Given the description of an element on the screen output the (x, y) to click on. 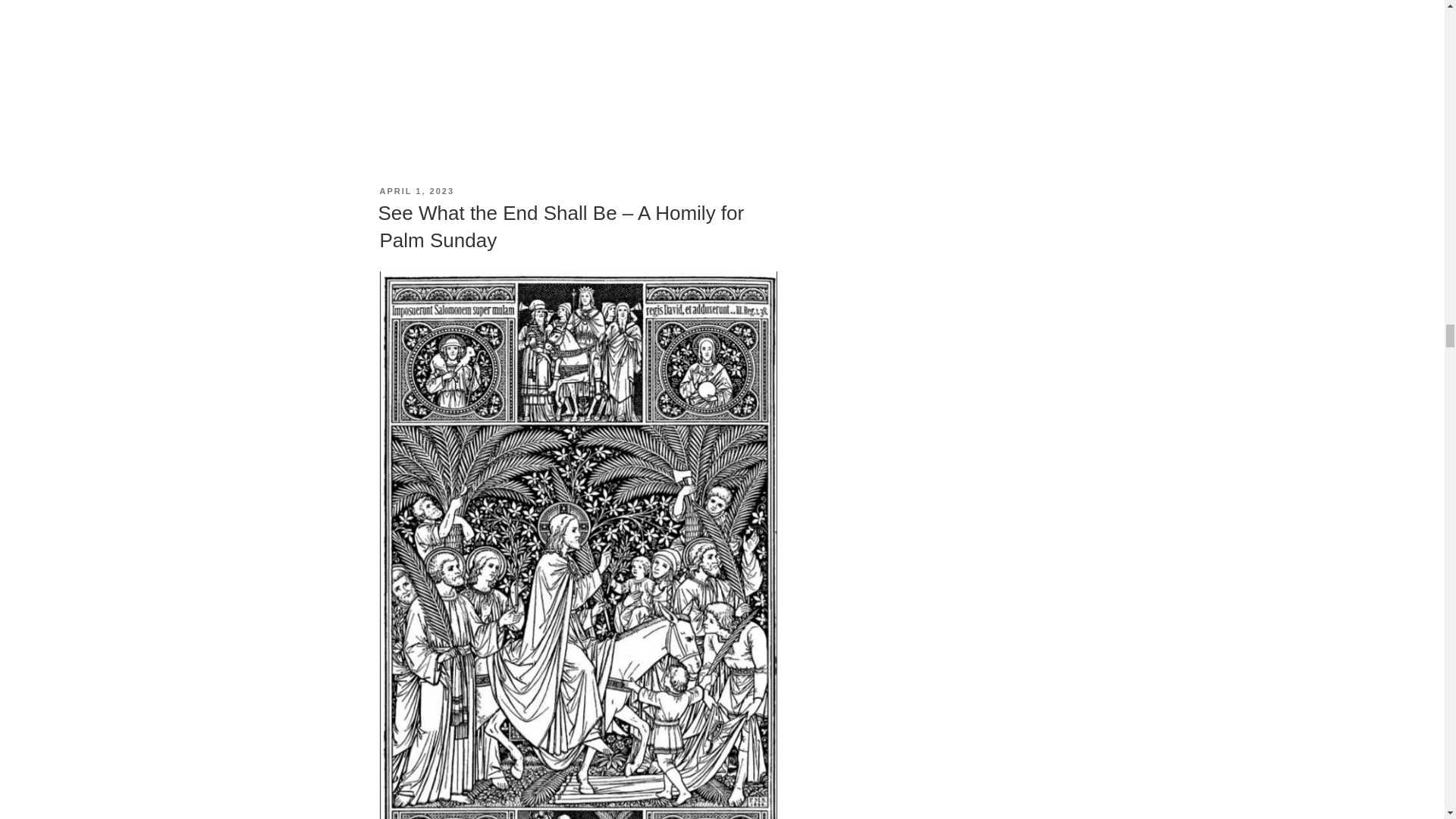
APRIL 1, 2023 (416, 190)
John Chapter 20 (577, 38)
